Given the description of an element on the screen output the (x, y) to click on. 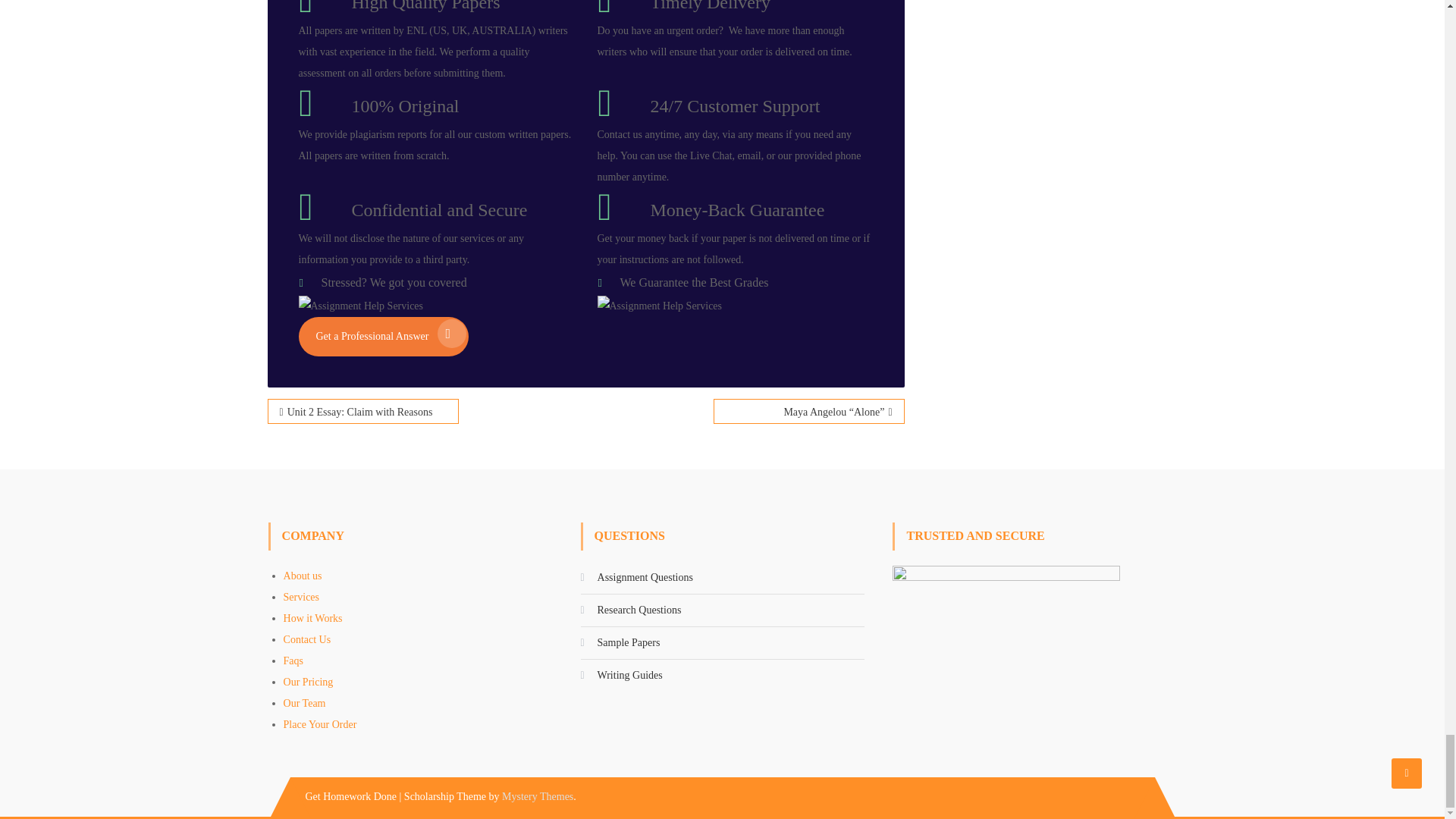
Timely Delivery (710, 6)
High Quality Papers (426, 6)
